Given the description of an element on the screen output the (x, y) to click on. 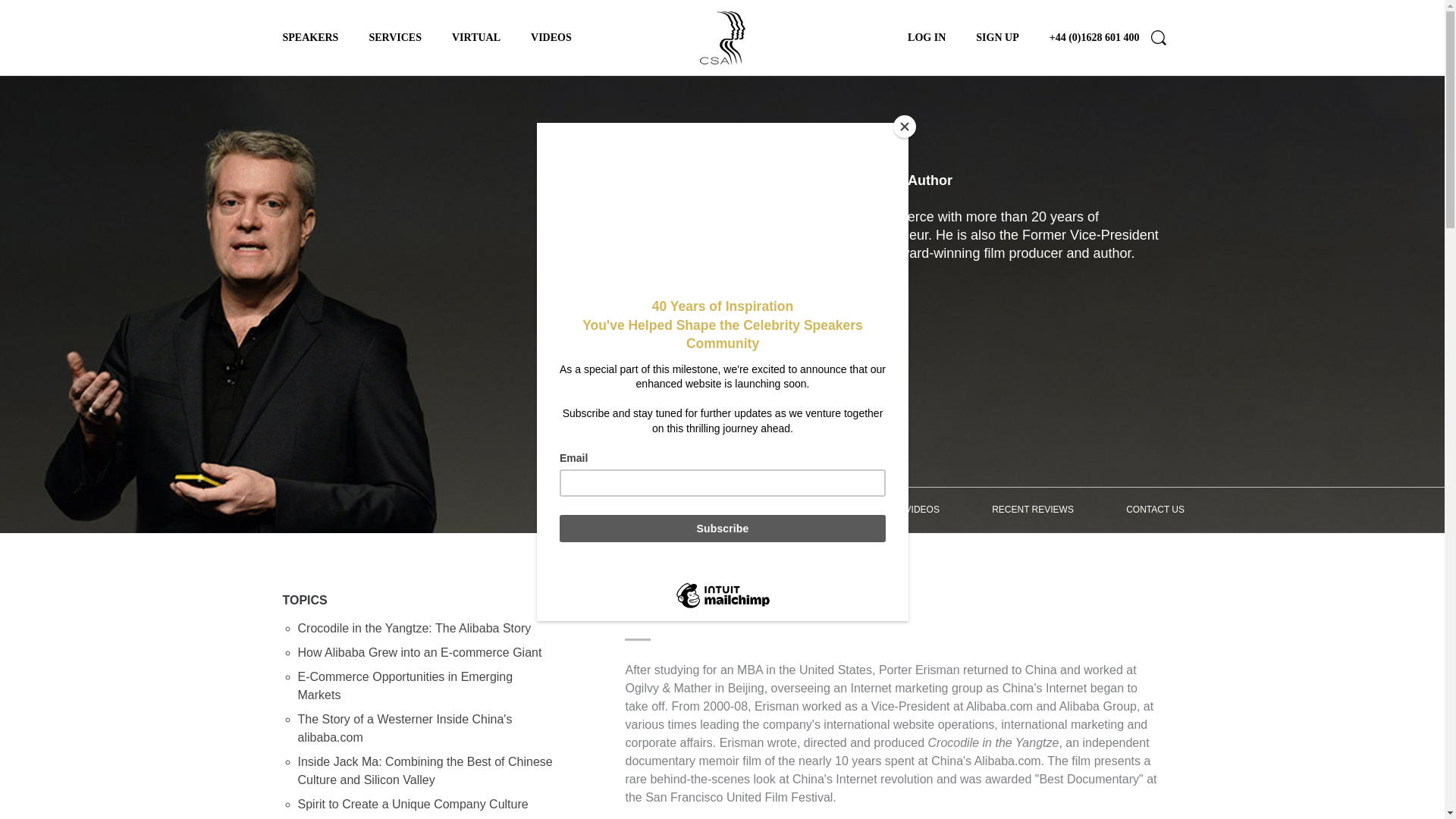
IN DETAIL (675, 509)
CONTACT US (1155, 509)
SERVICES (395, 37)
VIDEOS (551, 37)
ADD TO MY SHORTLIST (696, 329)
SIGN UP (996, 37)
WHAT HE OFFERS YOU (801, 509)
VIDEOS (922, 509)
VIRTUAL (475, 37)
Search (1158, 37)
SPEAKERS (309, 37)
RECENT REVIEWS (1033, 509)
LOG IN (925, 37)
